Given the description of an element on the screen output the (x, y) to click on. 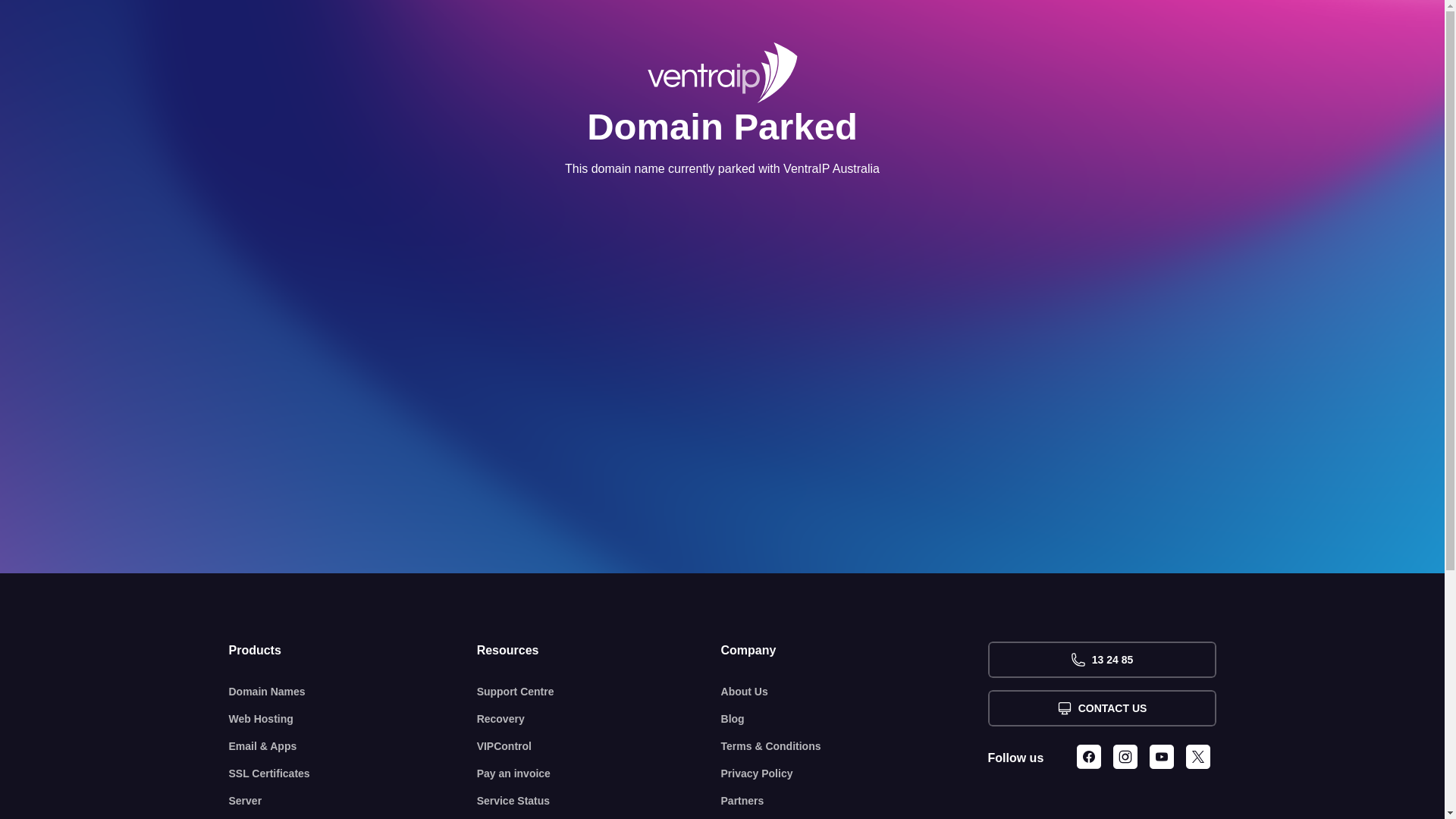
Recovery Element type: text (598, 718)
CONTACT US Element type: text (1101, 708)
Privacy Policy Element type: text (854, 773)
13 24 85 Element type: text (1101, 659)
Support Centre Element type: text (598, 691)
Terms & Conditions Element type: text (854, 745)
Domain Names Element type: text (352, 691)
Email & Apps Element type: text (352, 745)
Web Hosting Element type: text (352, 718)
Service Status Element type: text (598, 800)
Server Element type: text (352, 800)
Partners Element type: text (854, 800)
Blog Element type: text (854, 718)
Pay an invoice Element type: text (598, 773)
About Us Element type: text (854, 691)
SSL Certificates Element type: text (352, 773)
VIPControl Element type: text (598, 745)
